Given the description of an element on the screen output the (x, y) to click on. 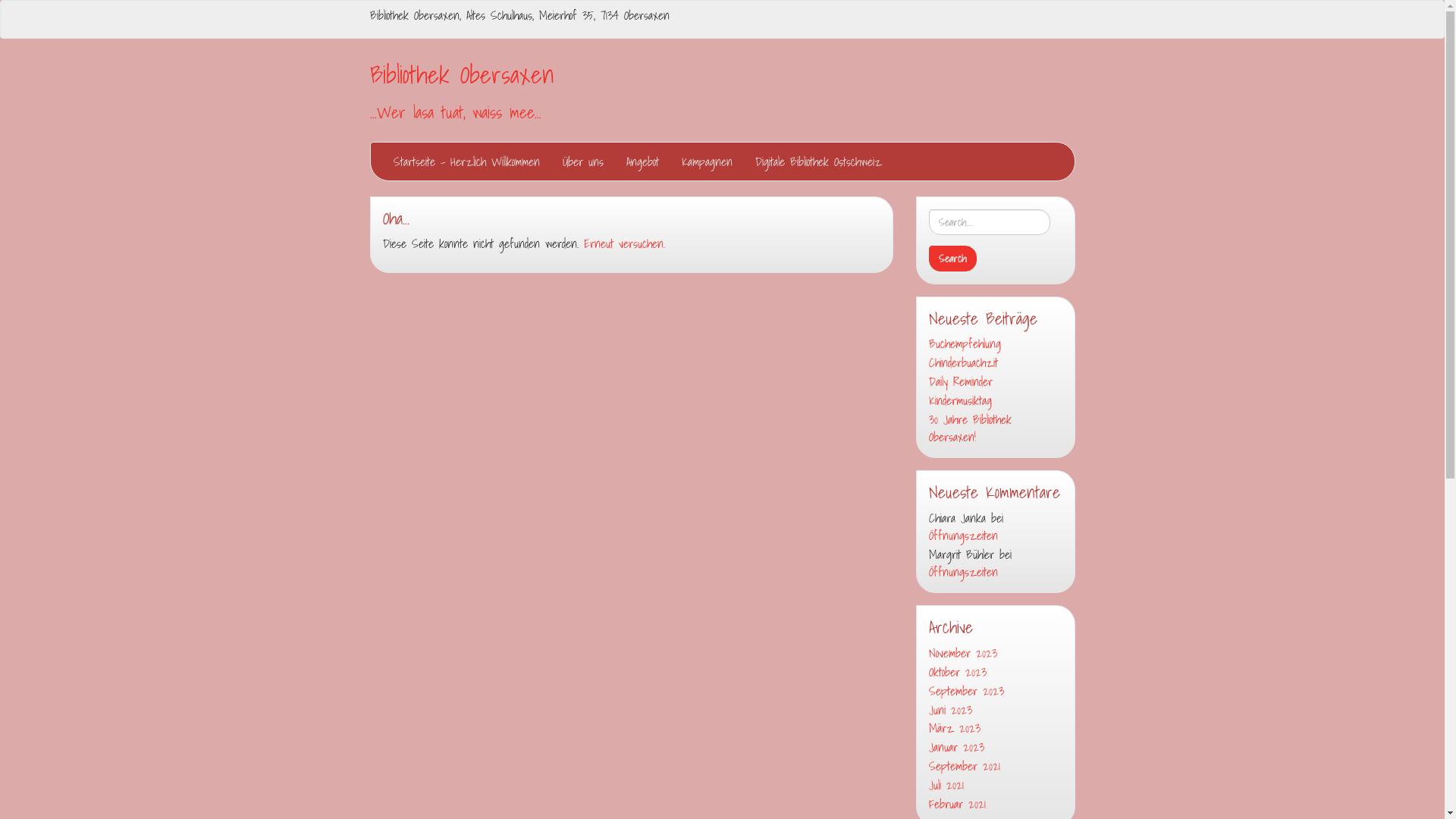
Kampagnen Element type: text (706, 161)
Februar 2021 Element type: text (994, 803)
Chinderbuachzit Element type: text (994, 362)
Search Element type: text (951, 258)
Angebot Element type: text (641, 161)
Juni 2023 Element type: text (994, 709)
Buchempfehlung Element type: text (994, 343)
Oktober 2023 Element type: text (994, 671)
Juli 2021 Element type: text (994, 784)
November 2023 Element type: text (994, 653)
Bibliothek Obersaxen Element type: text (461, 74)
Januar 2023 Element type: text (994, 747)
September 2021 Element type: text (994, 766)
30 Jahre Bibliothek Obersaxen! Element type: text (994, 428)
Kindermusiktag Element type: text (994, 400)
Daily Reminder Element type: text (994, 381)
Erneut versuchen. Element type: text (624, 243)
September 2023 Element type: text (994, 690)
Digitale Bibliothek Ostschweiz Element type: text (817, 161)
